Given the description of an element on the screen output the (x, y) to click on. 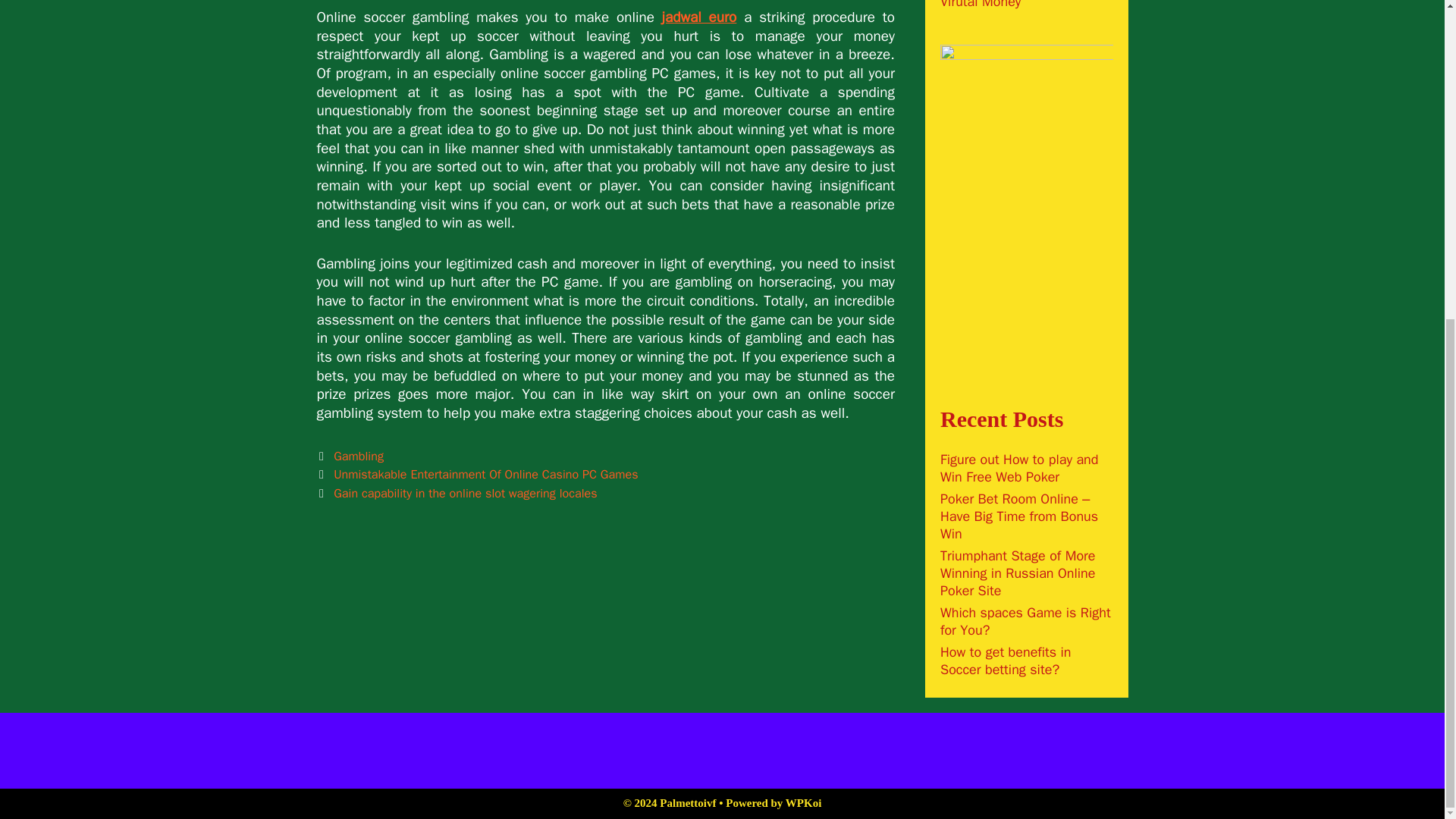
Figure out How to play and Win Free Web Poker (1019, 468)
Next (456, 493)
Gain capability in the online slot wagering locales (464, 493)
jadwal euro (699, 17)
Previous (478, 474)
WPKoi (804, 802)
Virutal Money (980, 4)
Unmistakable Entertainment Of Online Casino PC Games (485, 474)
How to get benefits in Soccer betting site? (1005, 660)
Which spaces Game is Right for You? (1025, 621)
Gambling (358, 455)
